Given the description of an element on the screen output the (x, y) to click on. 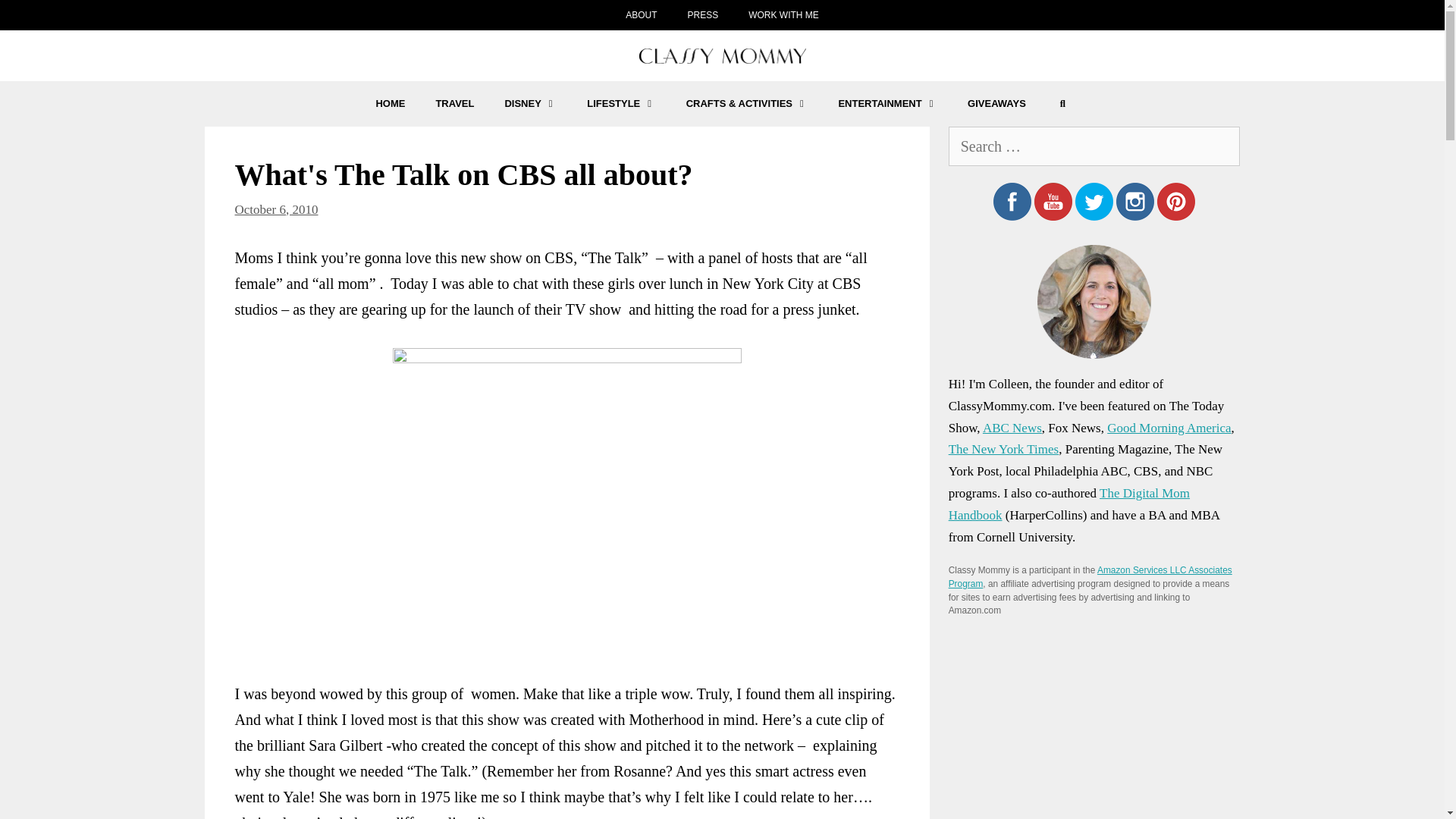
PRESS (702, 15)
DISNEY (530, 103)
SEARCH (1062, 103)
9:19 pm (276, 208)
GIVEAWAYS (996, 103)
ABOUT (640, 15)
October 6, 2010 (276, 208)
Classy Mommy (722, 54)
ENTERTAINMENT (887, 103)
